Given the description of an element on the screen output the (x, y) to click on. 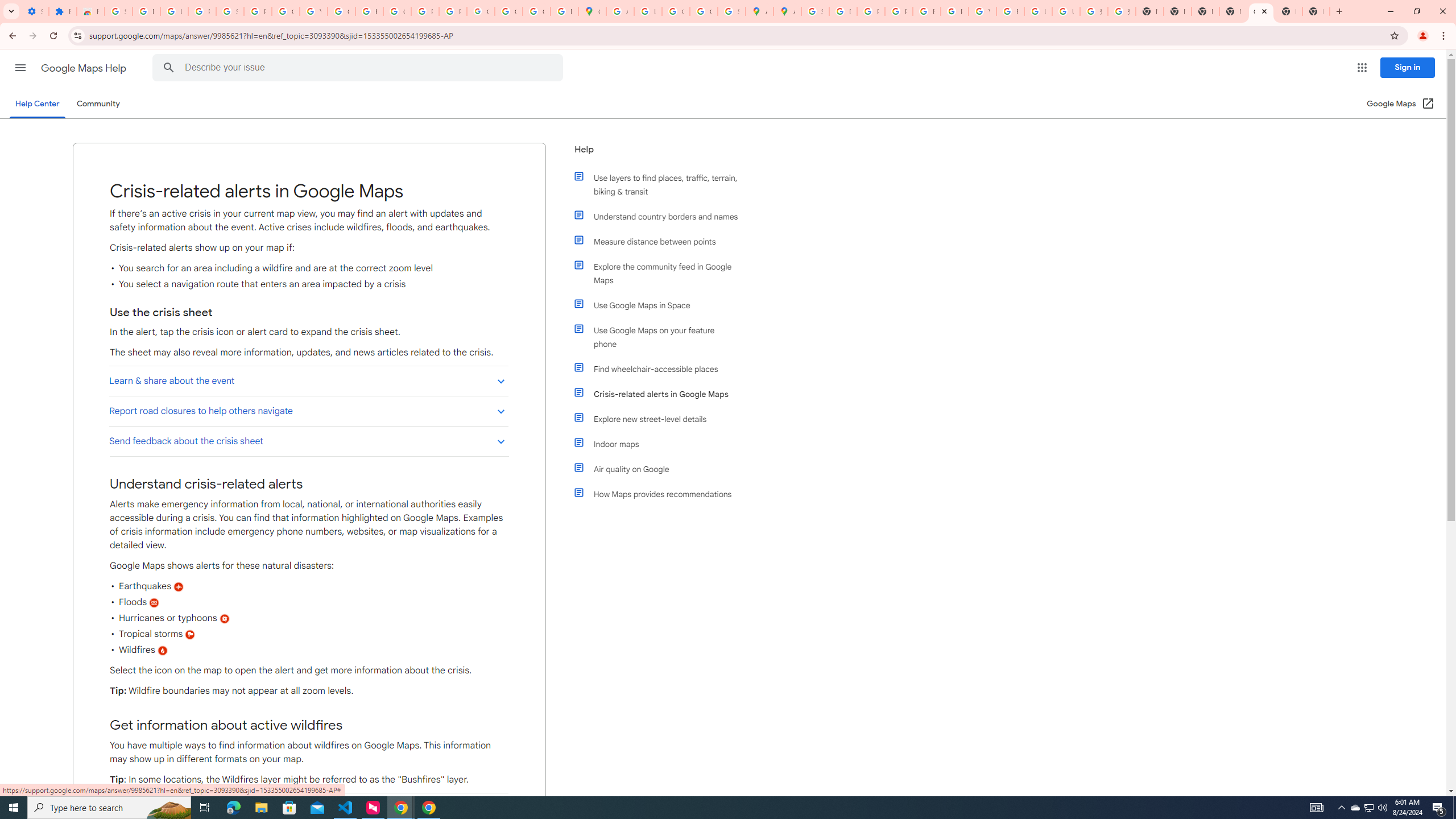
YouTube (982, 11)
Use Google Maps on your feature phone (661, 336)
Indoor maps (661, 444)
Reviews: Helix Fruit Jump Arcade Game (90, 11)
